Given the description of an element on the screen output the (x, y) to click on. 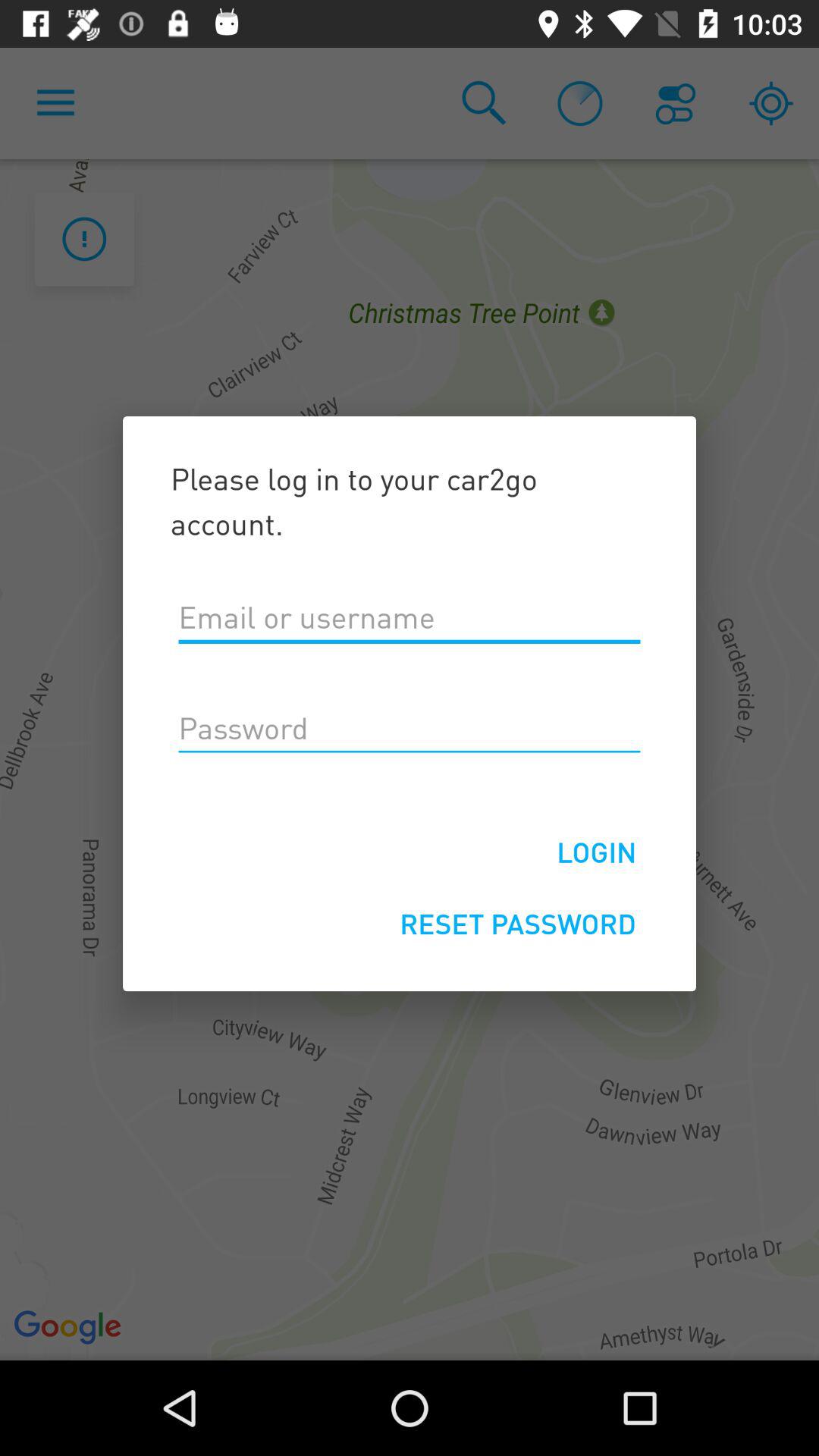
enter the password to login (409, 728)
